Given the description of an element on the screen output the (x, y) to click on. 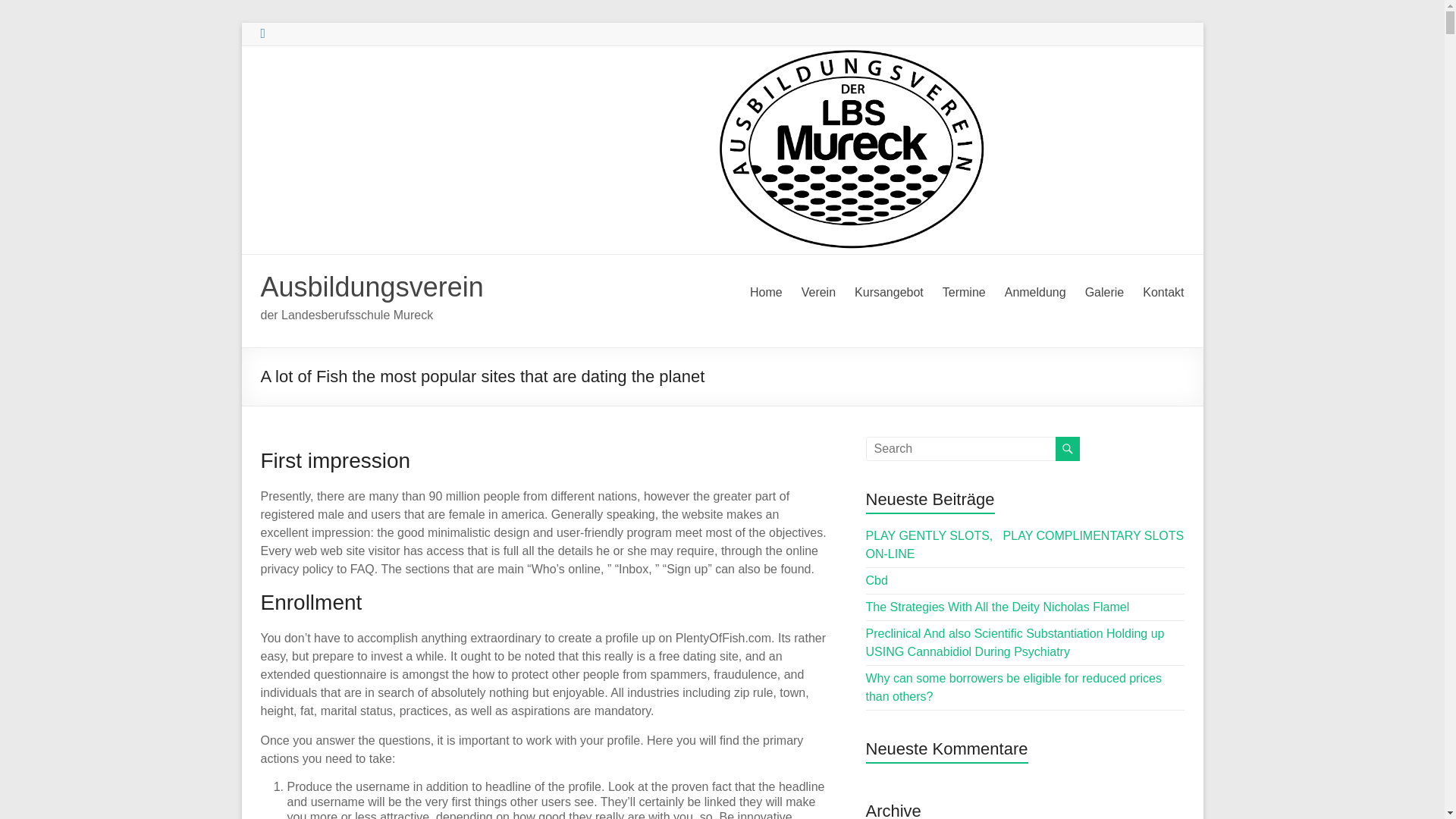
Ausbildungsverein (371, 286)
Anmeldung (1034, 292)
The Strategies With All the Deity Nicholas Flamel (997, 606)
Galerie (1104, 292)
Kursangebot (888, 292)
Home (766, 292)
Ausbildungsverein (371, 286)
Kontakt (1162, 292)
PLAY GENTLY SLOTS,   PLAY COMPLIMENTARY SLOTS ON-LINE (1025, 544)
